Given the description of an element on the screen output the (x, y) to click on. 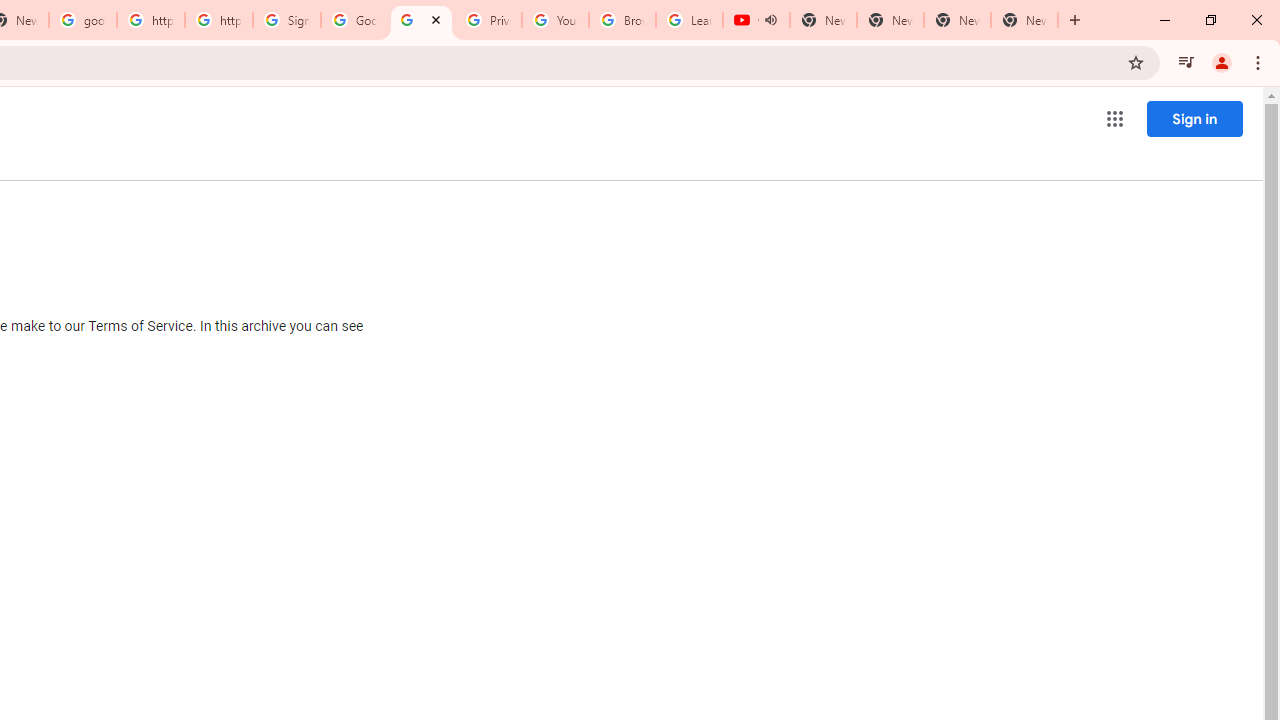
https://scholar.google.com/ (150, 20)
Browse Chrome as a guest - Computer - Google Chrome Help (622, 20)
New Tab (1024, 20)
https://scholar.google.com/ (219, 20)
